Given the description of an element on the screen output the (x, y) to click on. 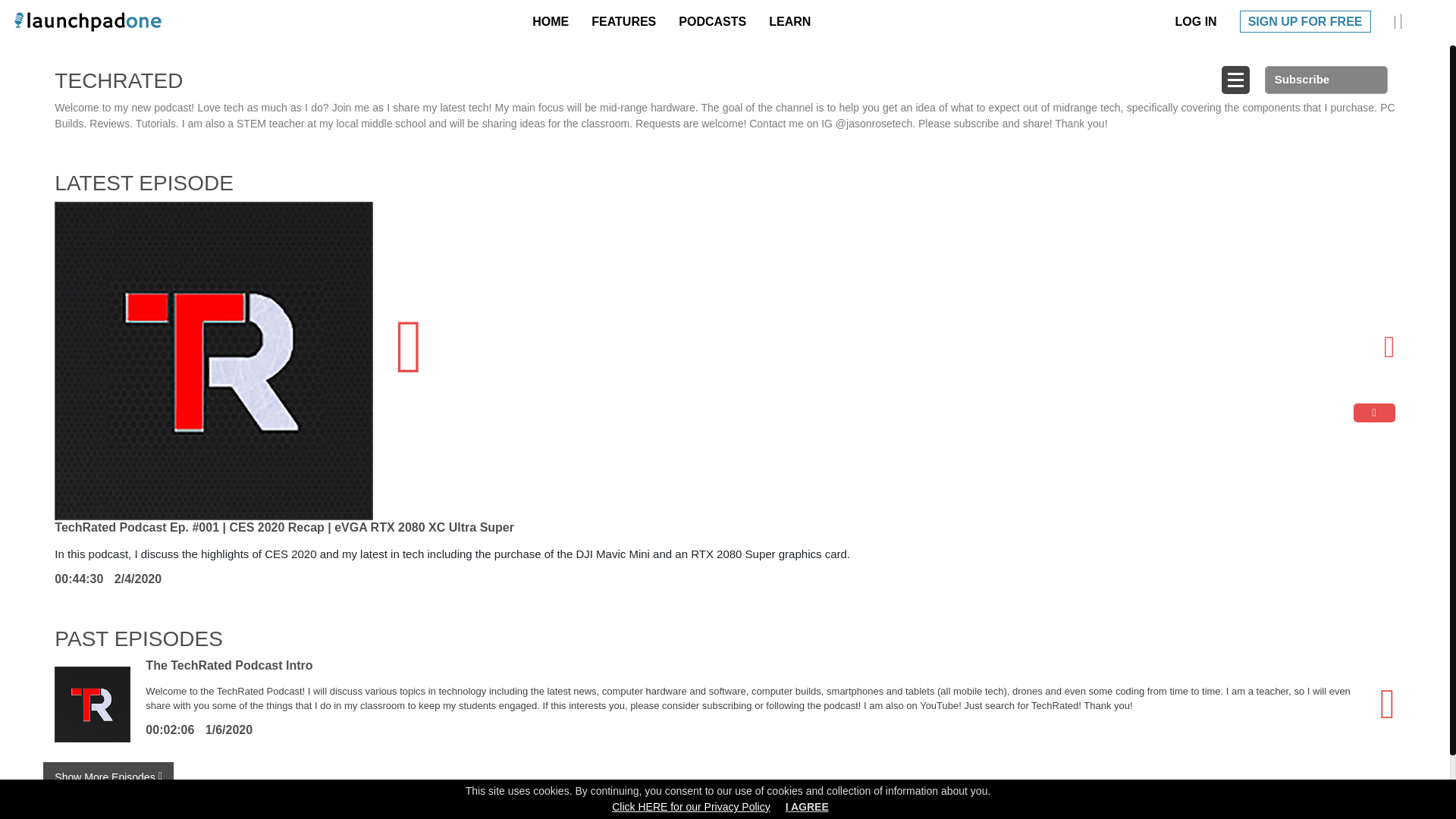
LEARN (793, 21)
The TechRated Podcast Intro (229, 665)
PODCASTS (716, 21)
LaunchpadOne (87, 22)
HOME (554, 21)
SIGN UP FOR FREE (1305, 21)
FEATURES (627, 21)
Subscribe (1326, 80)
LOG IN (1199, 21)
